Given the description of an element on the screen output the (x, y) to click on. 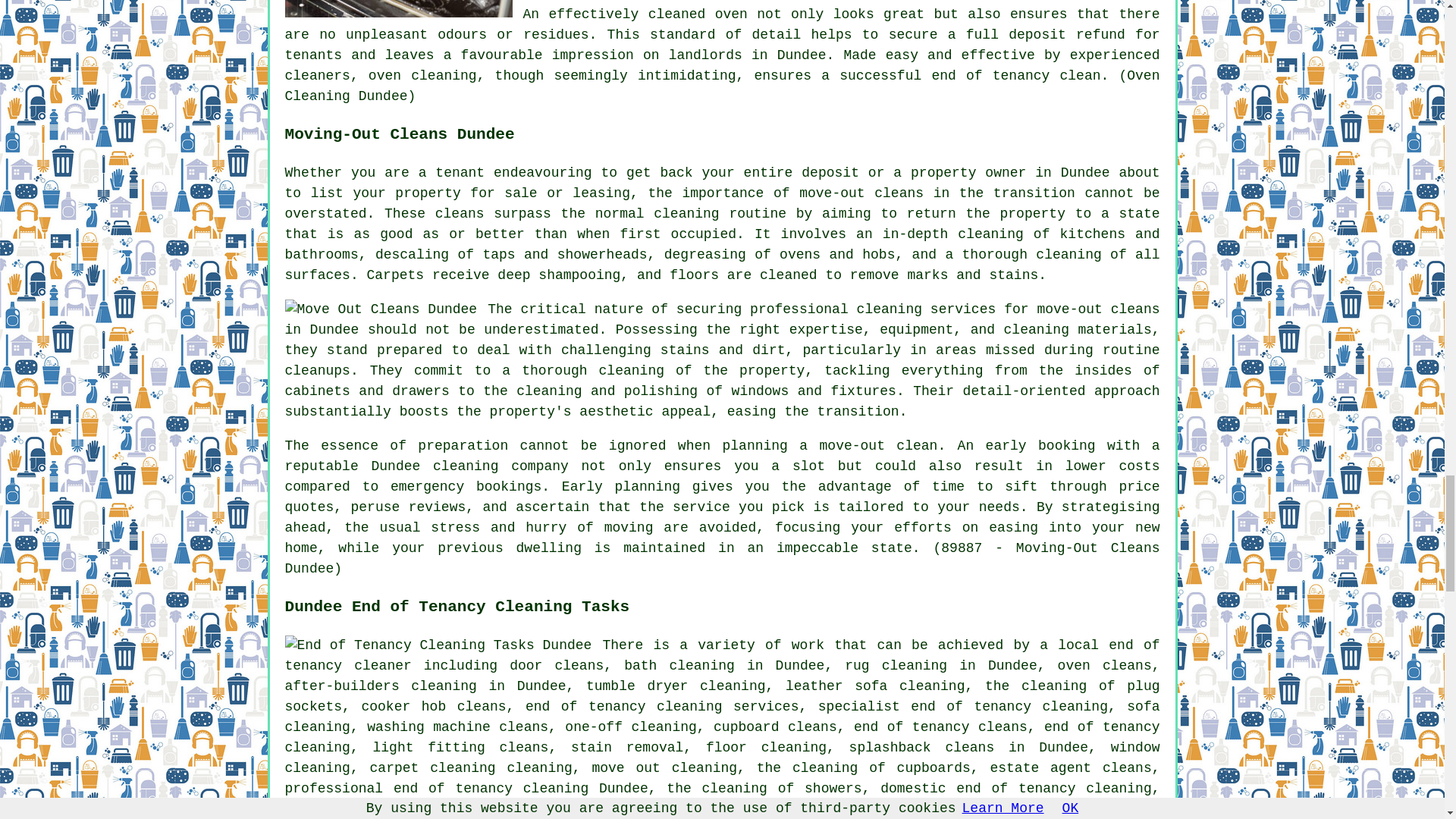
cleaning (686, 213)
end of tenancy clean (1015, 75)
Oven Cleaning Dundee (398, 8)
cleaned oven (697, 14)
Move Out Cleans Dundee (381, 309)
